Given the description of an element on the screen output the (x, y) to click on. 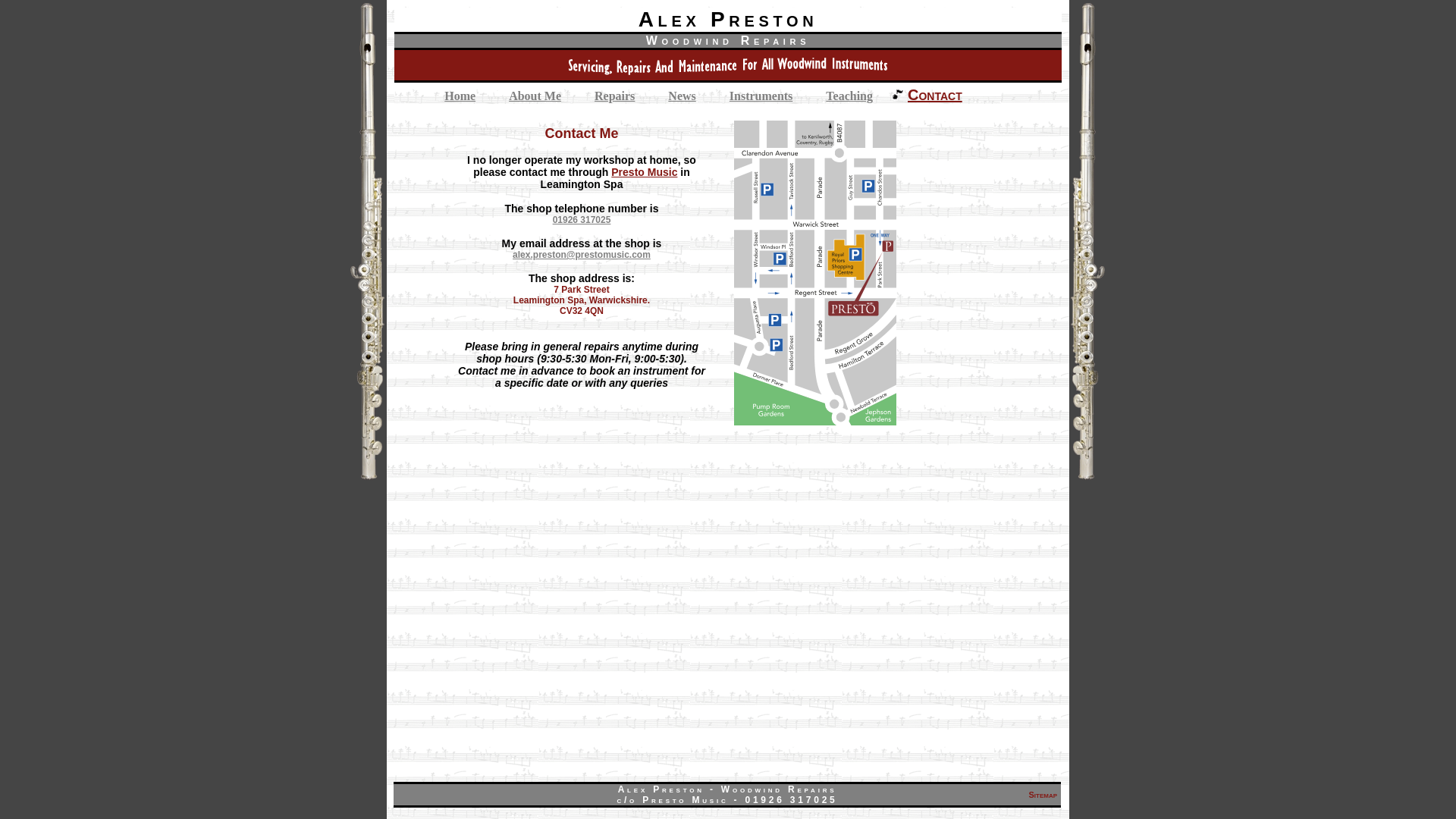
News (681, 95)
Sitemap (1042, 794)
Presto Music (644, 172)
About Me (534, 95)
Instruments (761, 95)
Teaching (849, 95)
01926 317025 (581, 219)
Repairs (614, 95)
Contact (935, 94)
Home (459, 95)
